Given the description of an element on the screen output the (x, y) to click on. 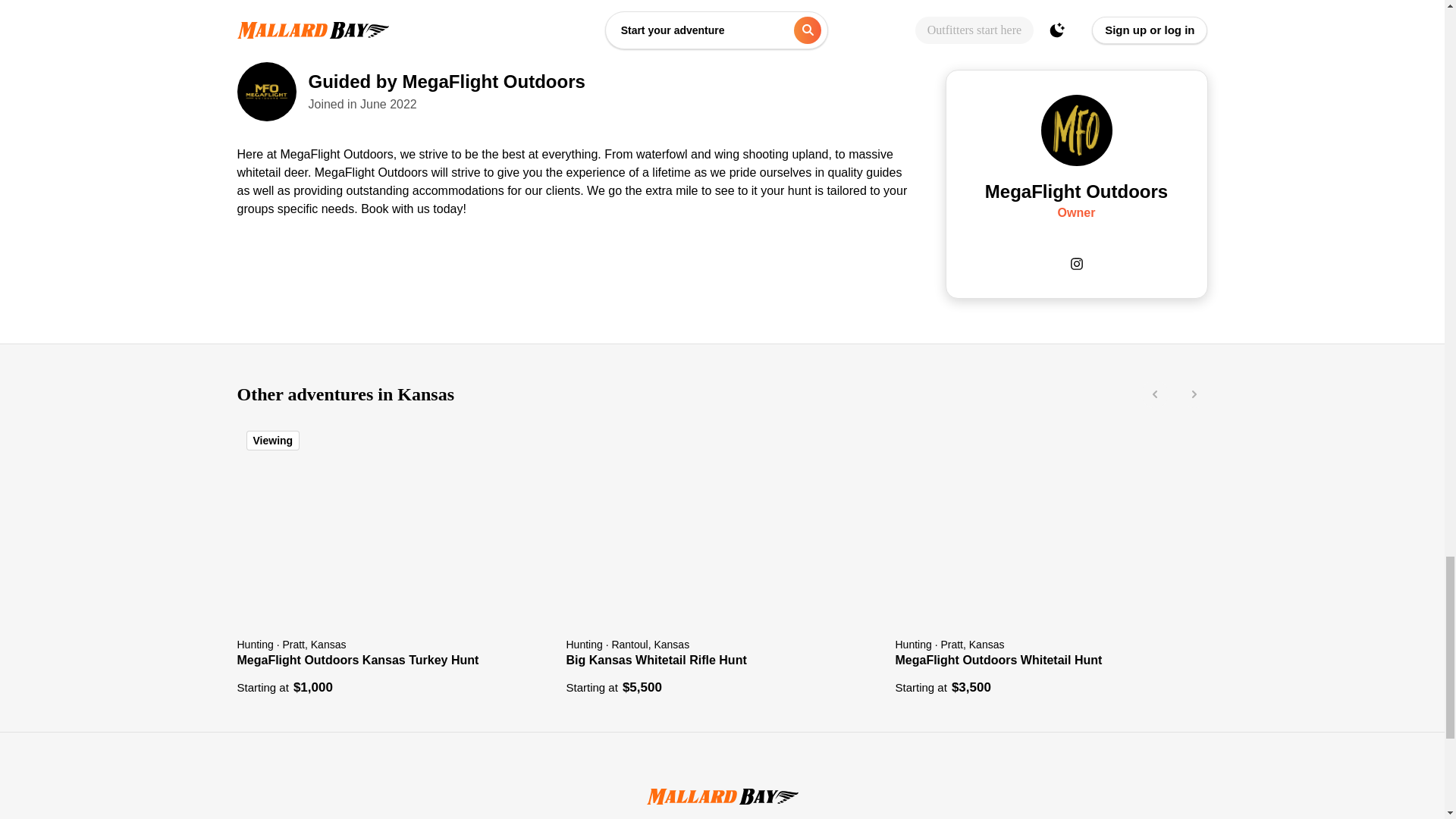
Left (1153, 393)
Right (1193, 393)
